Given the description of an element on the screen output the (x, y) to click on. 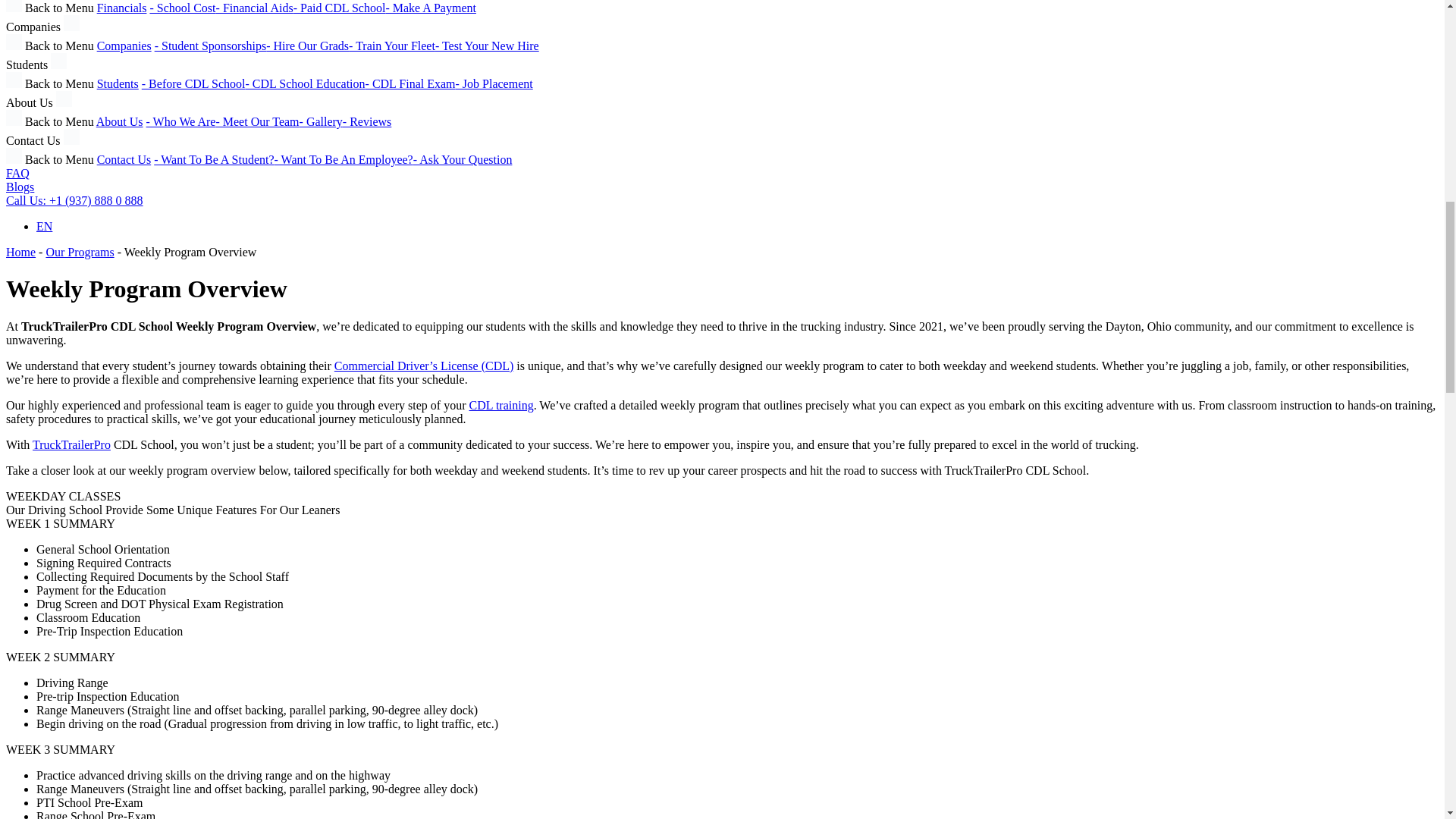
EN (44, 226)
